Given the description of an element on the screen output the (x, y) to click on. 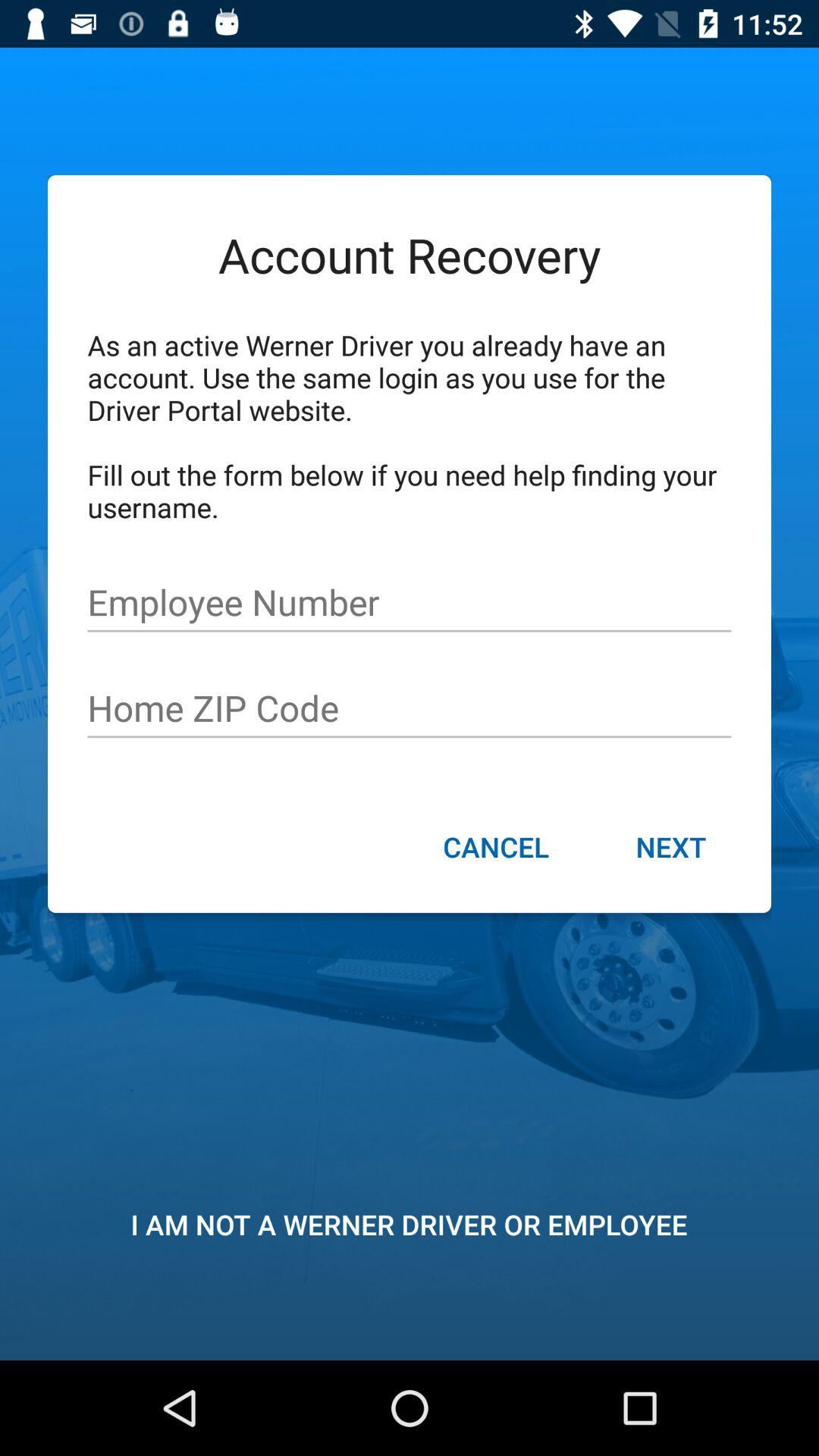
choose icon on the right (670, 848)
